Given the description of an element on the screen output the (x, y) to click on. 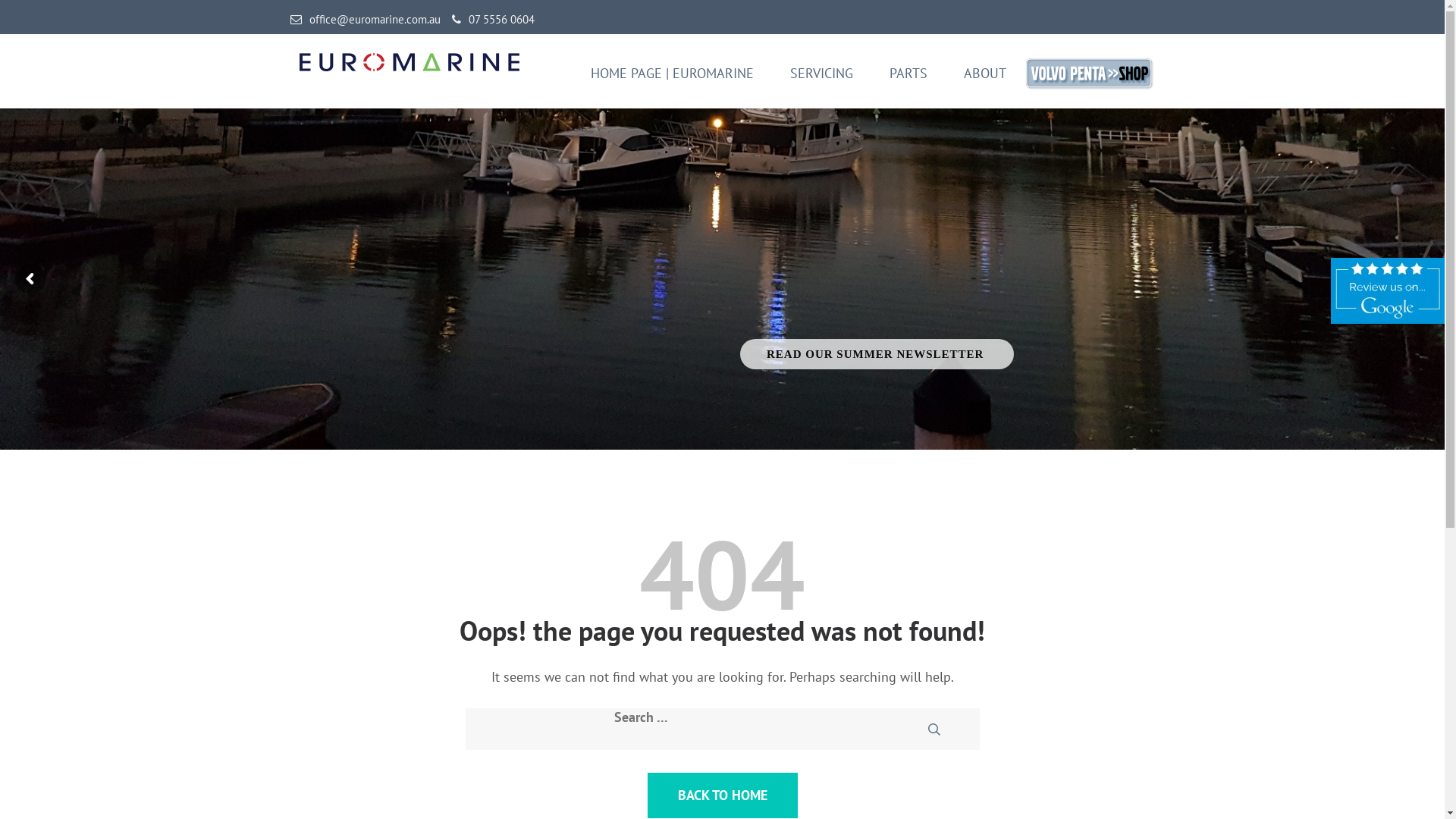
ABOUT Element type: text (984, 82)
HOME PAGE | EUROMARINE Element type: text (671, 82)
07 5556 0604 Element type: text (492, 19)
office@euromarine.com.au Element type: text (364, 19)
SERVICING Element type: text (821, 82)
BACK TO HOME Element type: text (722, 795)
PARTS Element type: text (907, 82)
Search Element type: text (953, 728)
